Given the description of an element on the screen output the (x, y) to click on. 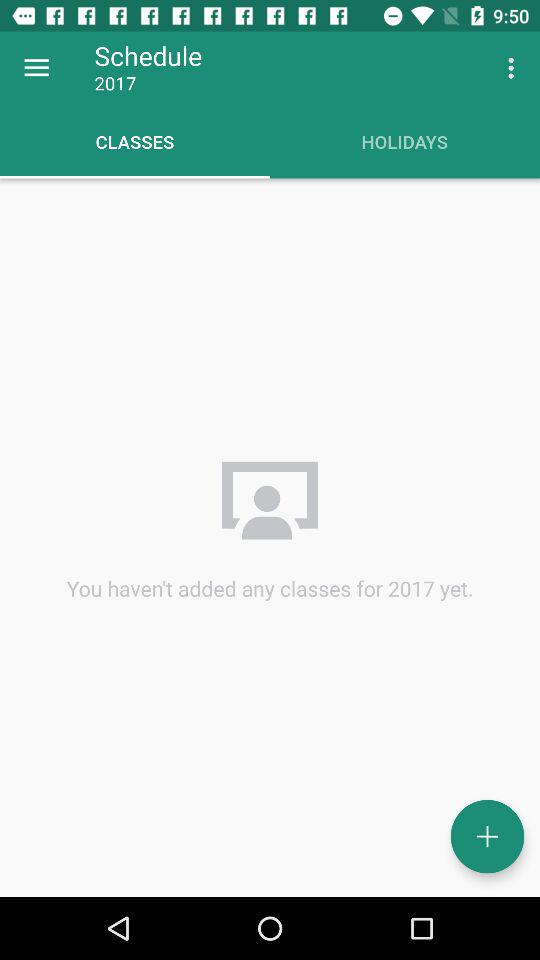
add class (487, 836)
